Given the description of an element on the screen output the (x, y) to click on. 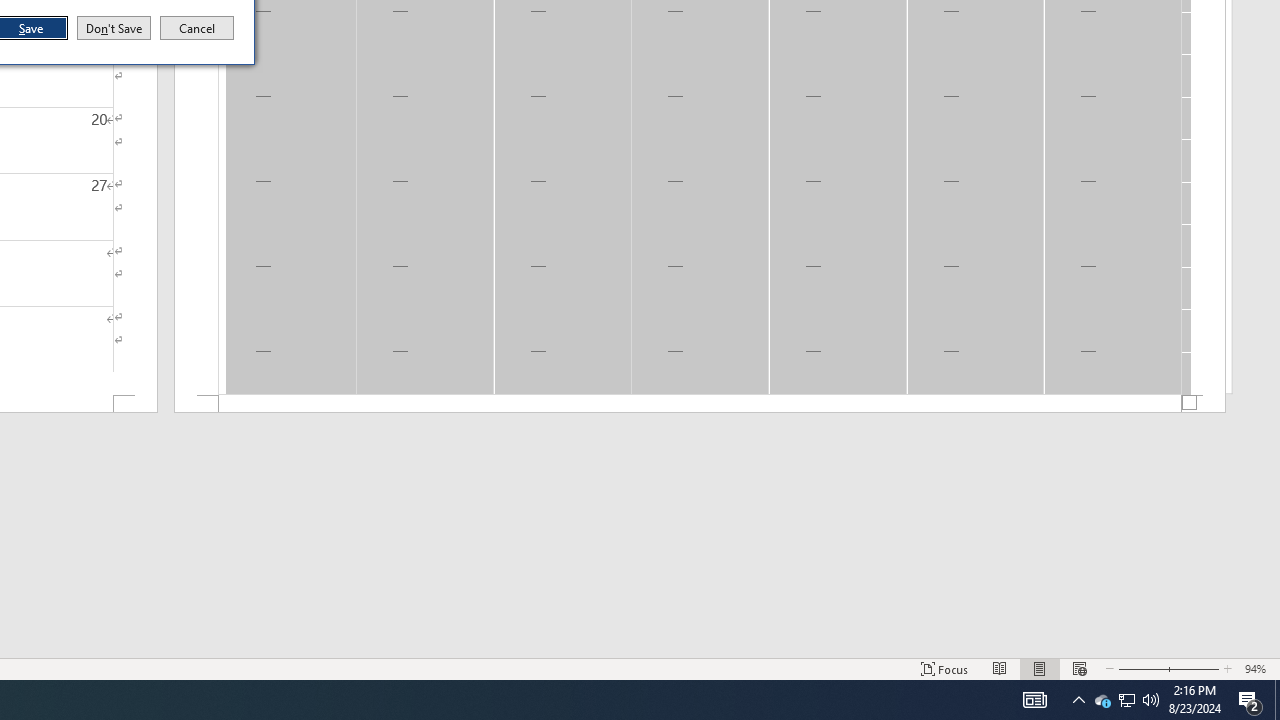
Cancel (197, 27)
